Given the description of an element on the screen output the (x, y) to click on. 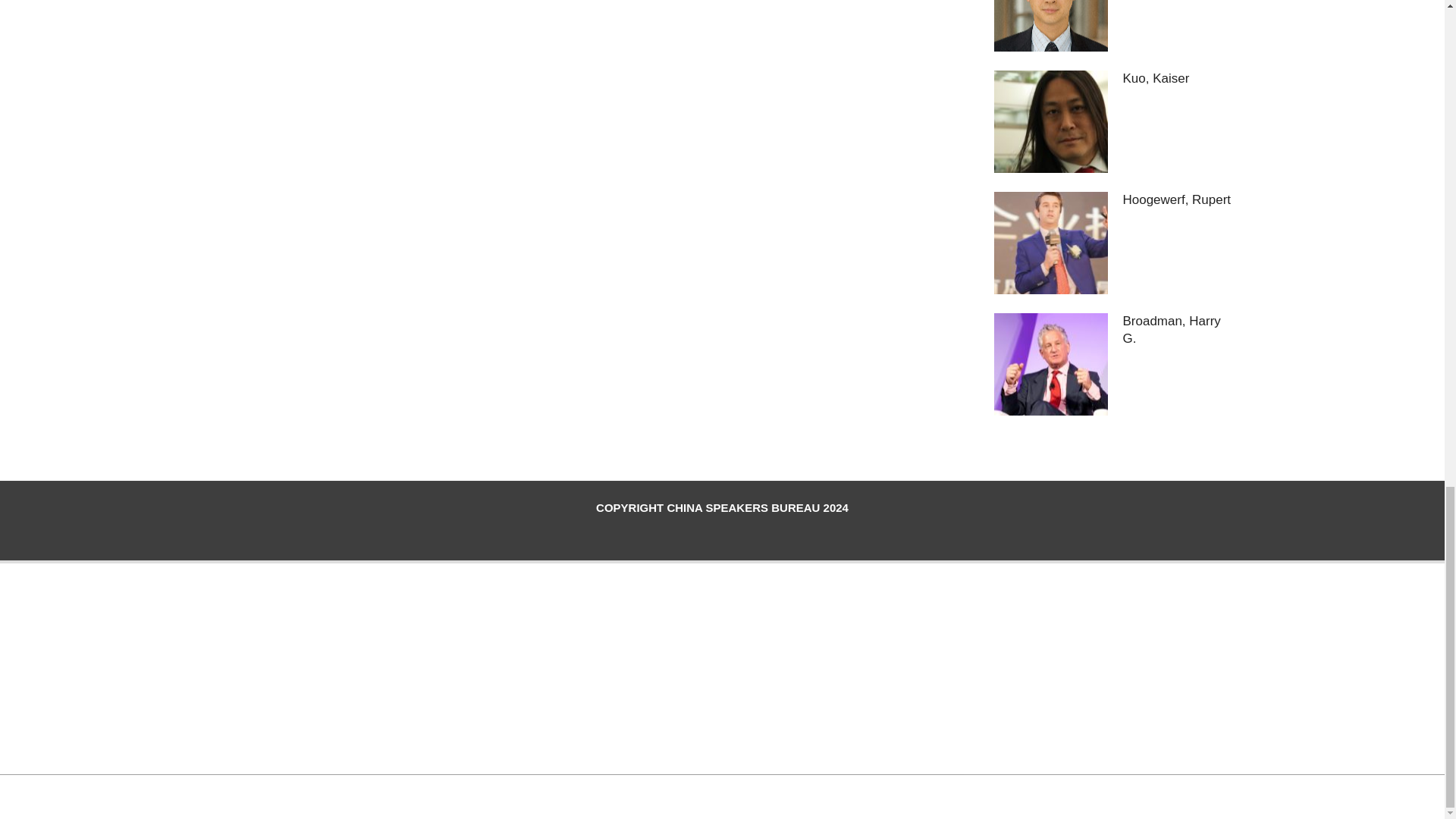
Hoot Du WordPress Theme (704, 794)
